Given the description of an element on the screen output the (x, y) to click on. 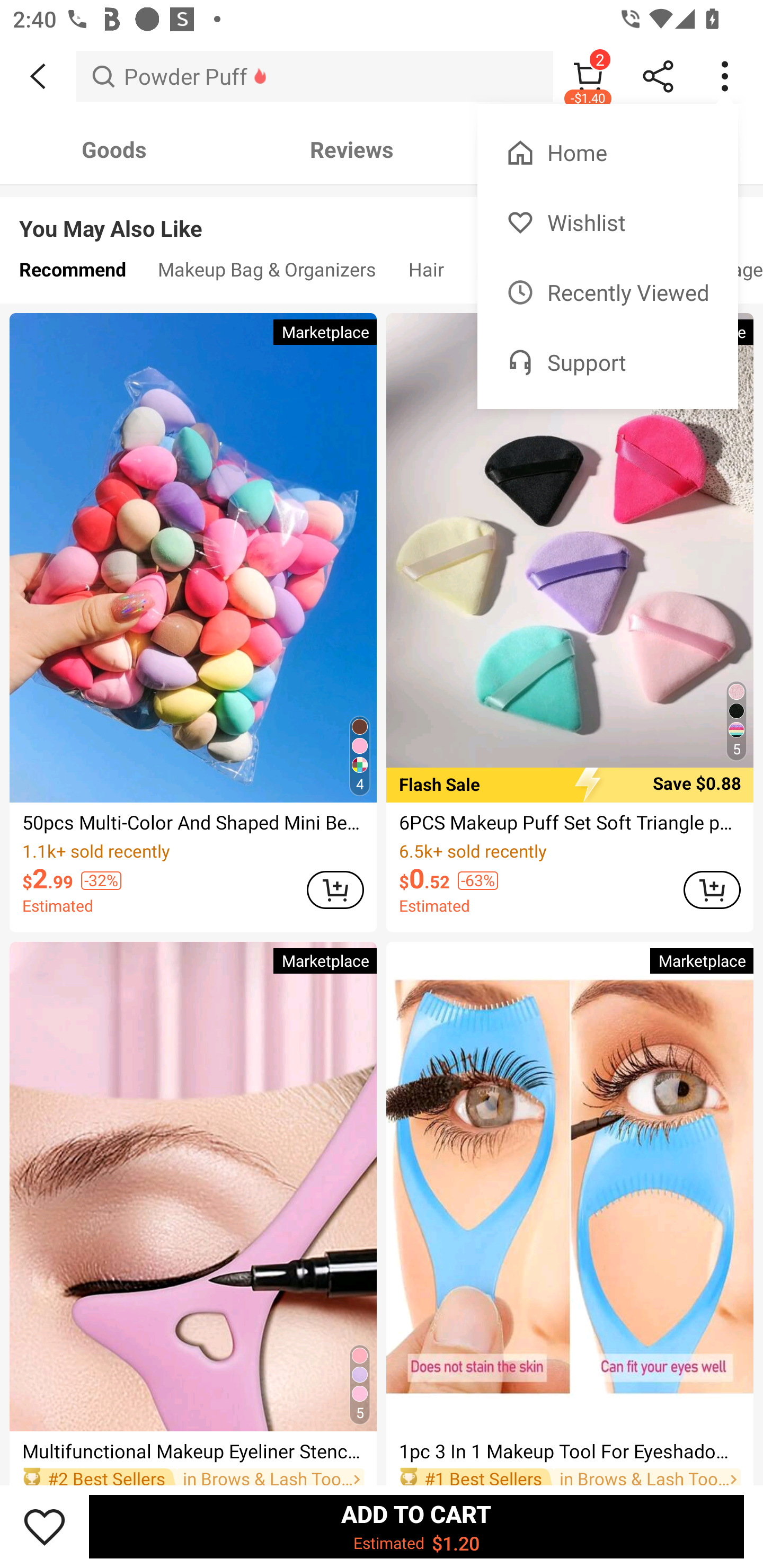
Home (607, 152)
Wishlist (607, 222)
Recently Viewed (607, 292)
Support (607, 361)
